Given the description of an element on the screen output the (x, y) to click on. 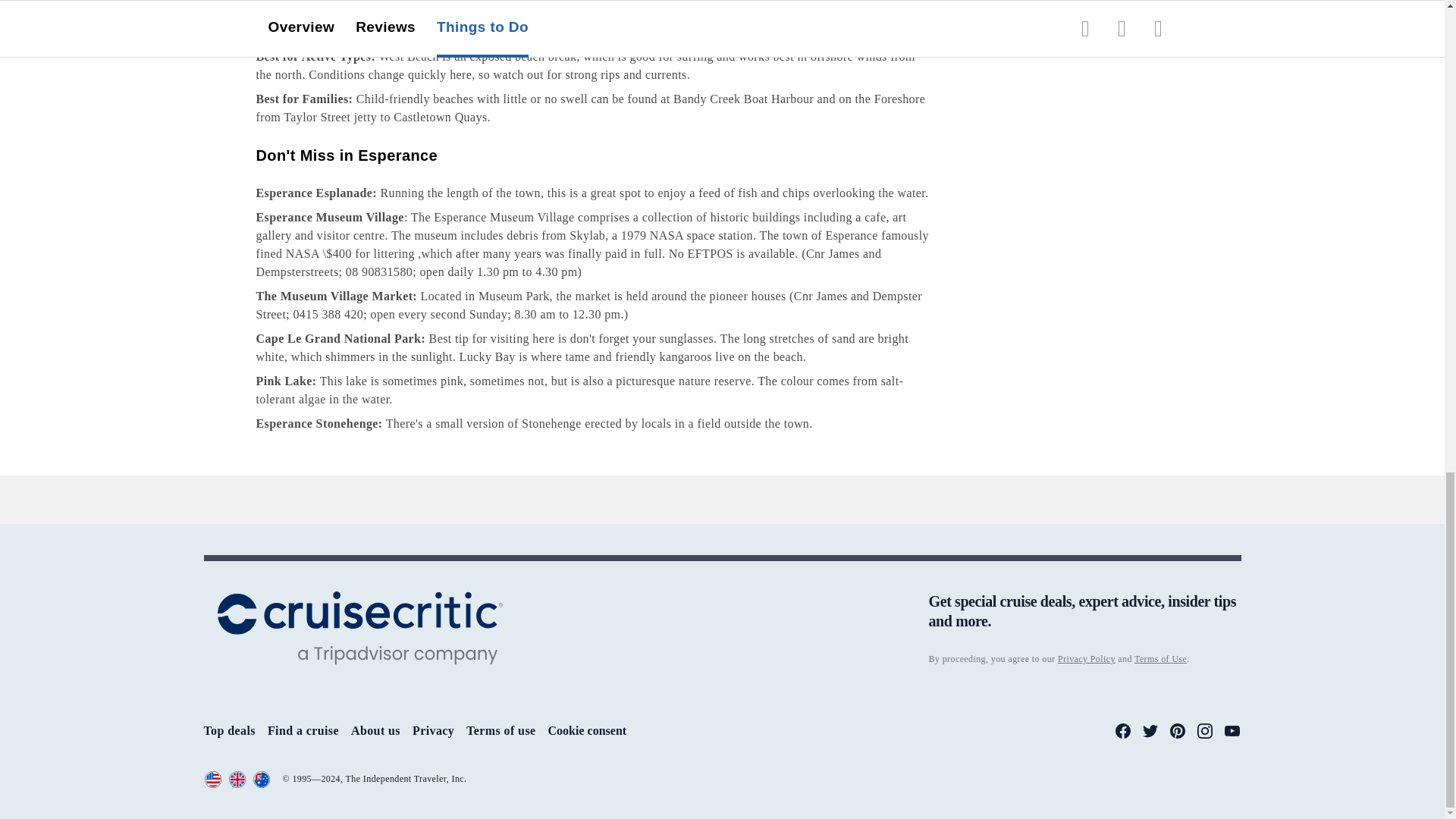
Privacy Policy (213, 780)
Terms of Use (313, 780)
Find a cruise (34, 814)
Top deals (26, 798)
